Given the description of an element on the screen output the (x, y) to click on. 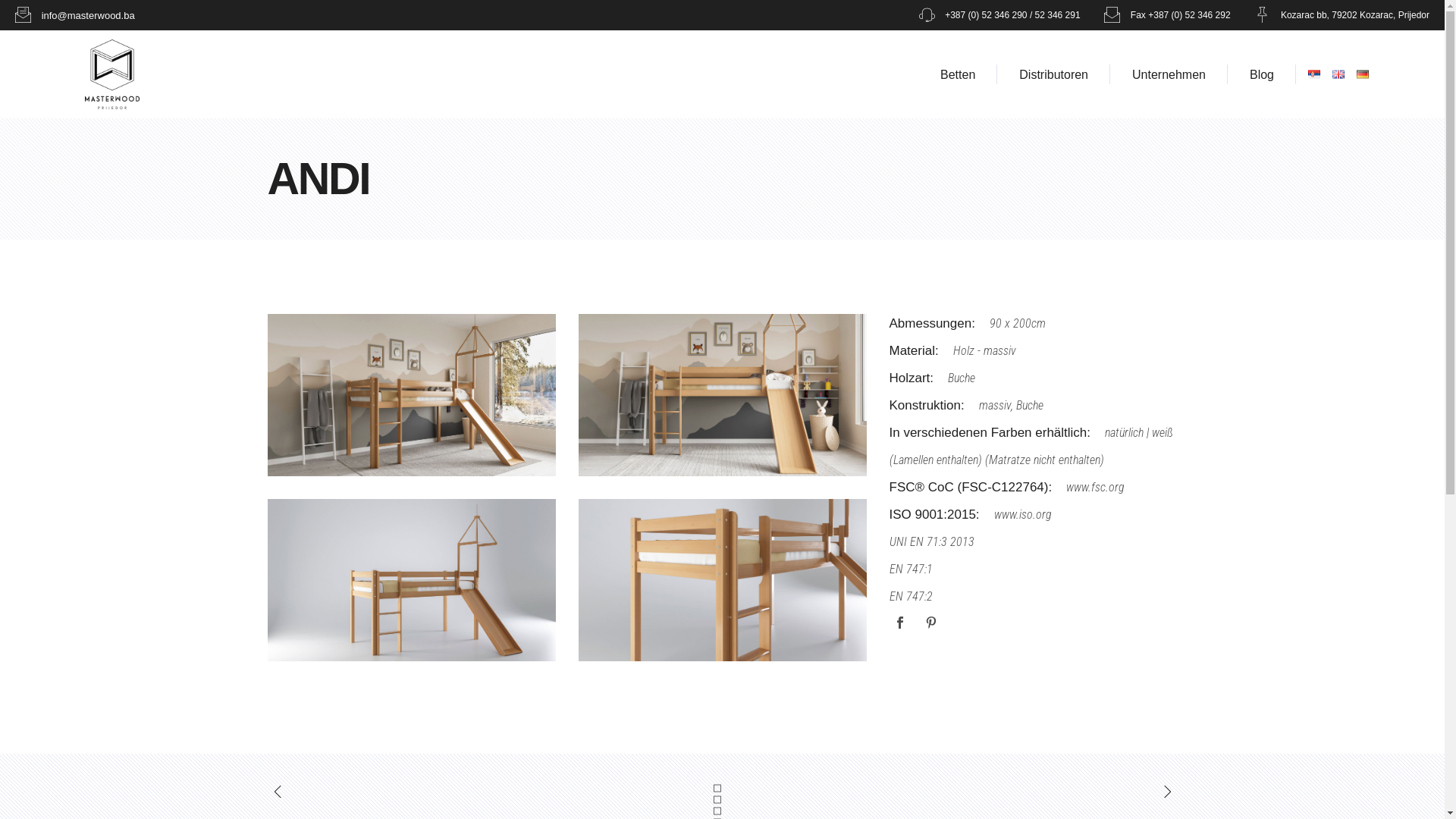
Unternehmen Element type: text (1168, 74)
loft-bunk-andi-3 Element type: hover (410, 579)
+387 (0) 52 346 290 / 52 346 291 Element type: text (999, 15)
Blog Element type: text (1261, 74)
info@masterwood.ba Element type: text (74, 15)
www.fsc.org Element type: text (1095, 487)
Fax +387 (0) 52 346 292 Element type: text (1167, 15)
loft-bunk-andi-2 Element type: hover (721, 394)
www.iso.org Element type: text (1022, 514)
Distributoren Element type: text (1053, 74)
Kozarac bb, 79202 Kozarac, Prijedor Element type: text (1341, 15)
loft-bunk-andi-4 Element type: hover (721, 579)
Betten Element type: text (957, 74)
loft-bunk-andi-1 Element type: hover (410, 394)
